Given the description of an element on the screen output the (x, y) to click on. 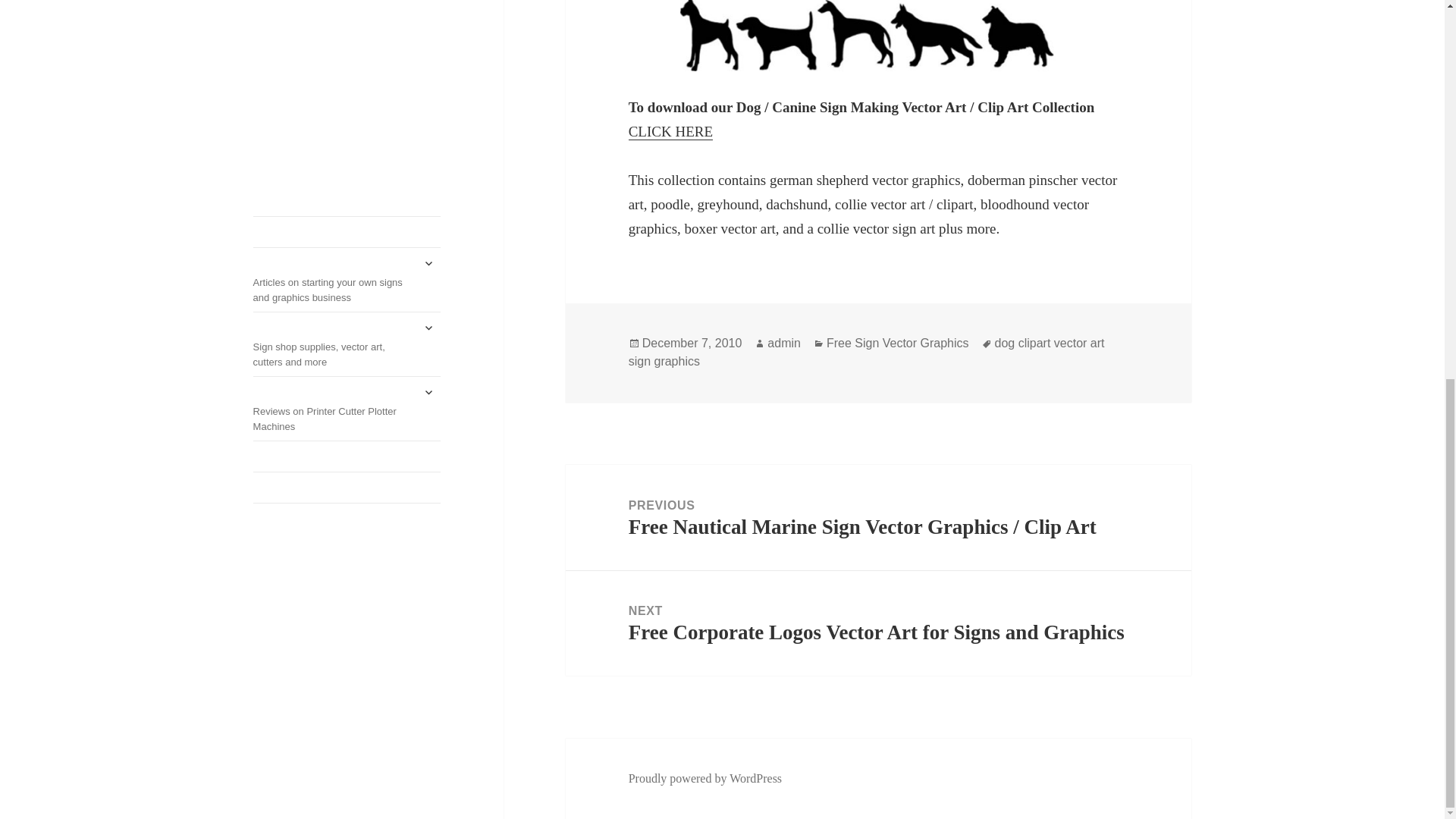
Nautical Vector Art (670, 131)
Dog Canine Vector Clip Art Graphics (878, 35)
